Given the description of an element on the screen output the (x, y) to click on. 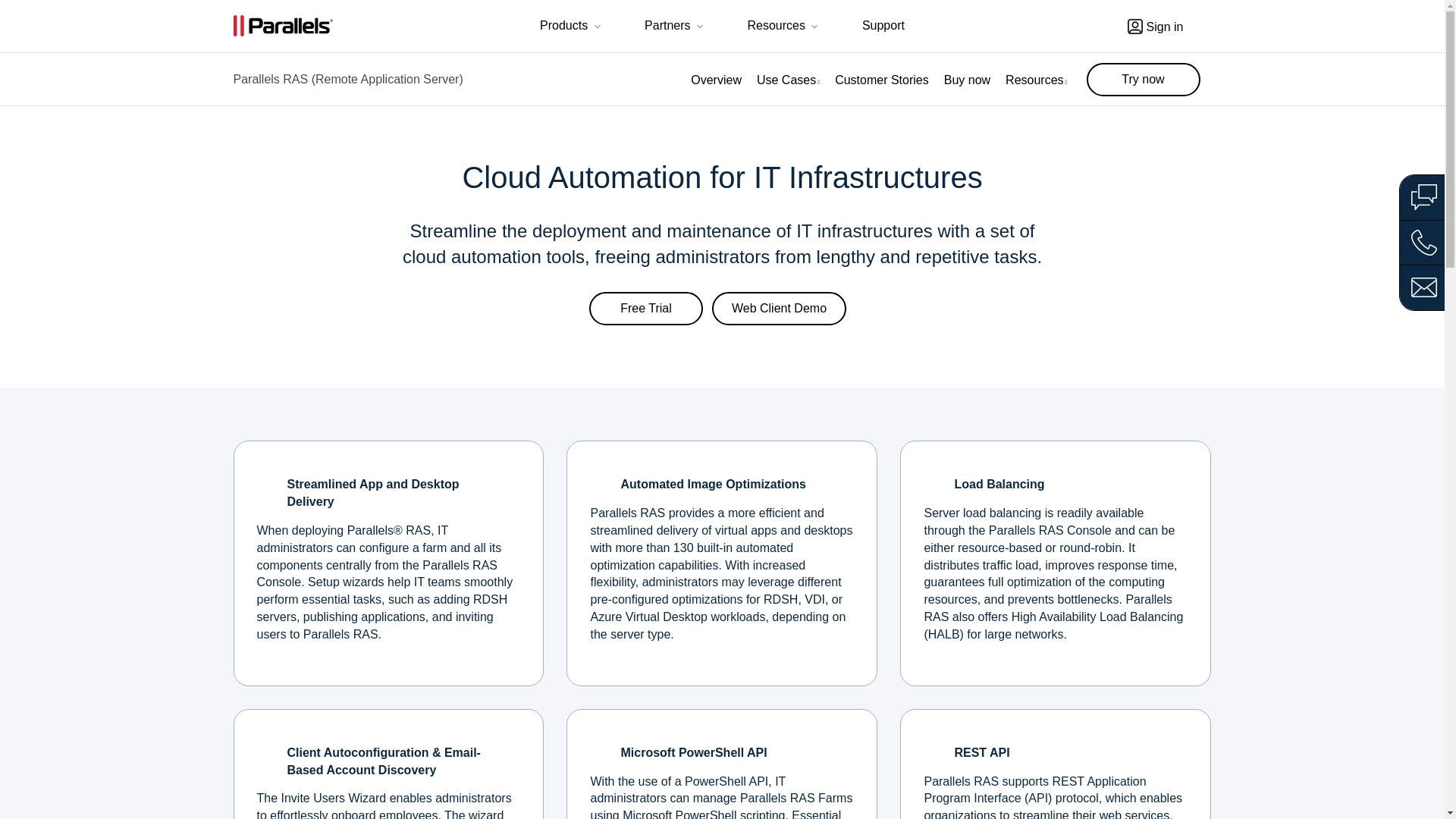
Web Client Demo (778, 308)
Parallels RAS - Try now (1142, 79)
Parallels (282, 25)
Resources (784, 27)
Partners (675, 27)
Products (572, 27)
